Given the description of an element on the screen output the (x, y) to click on. 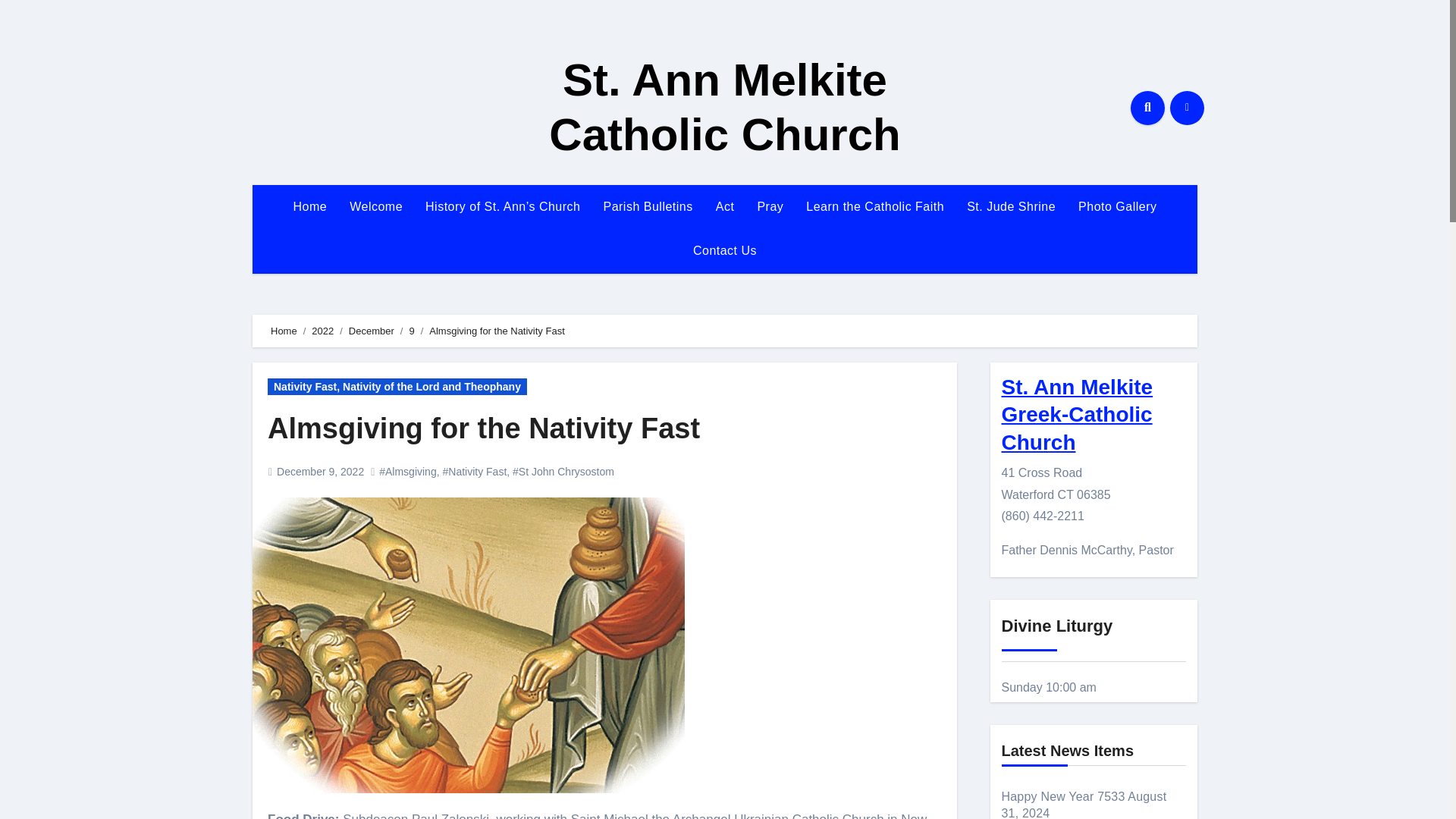
Contact Us (724, 250)
Home (283, 330)
St. Ann Melkite Catholic Church (723, 106)
2022 (322, 330)
Home (309, 207)
Permalink to: Almsgiving for the Nativity Fast (483, 428)
Learn the Catholic Faith (874, 207)
Welcome (375, 207)
Parish Bulletins (647, 207)
Home (309, 207)
